Given the description of an element on the screen output the (x, y) to click on. 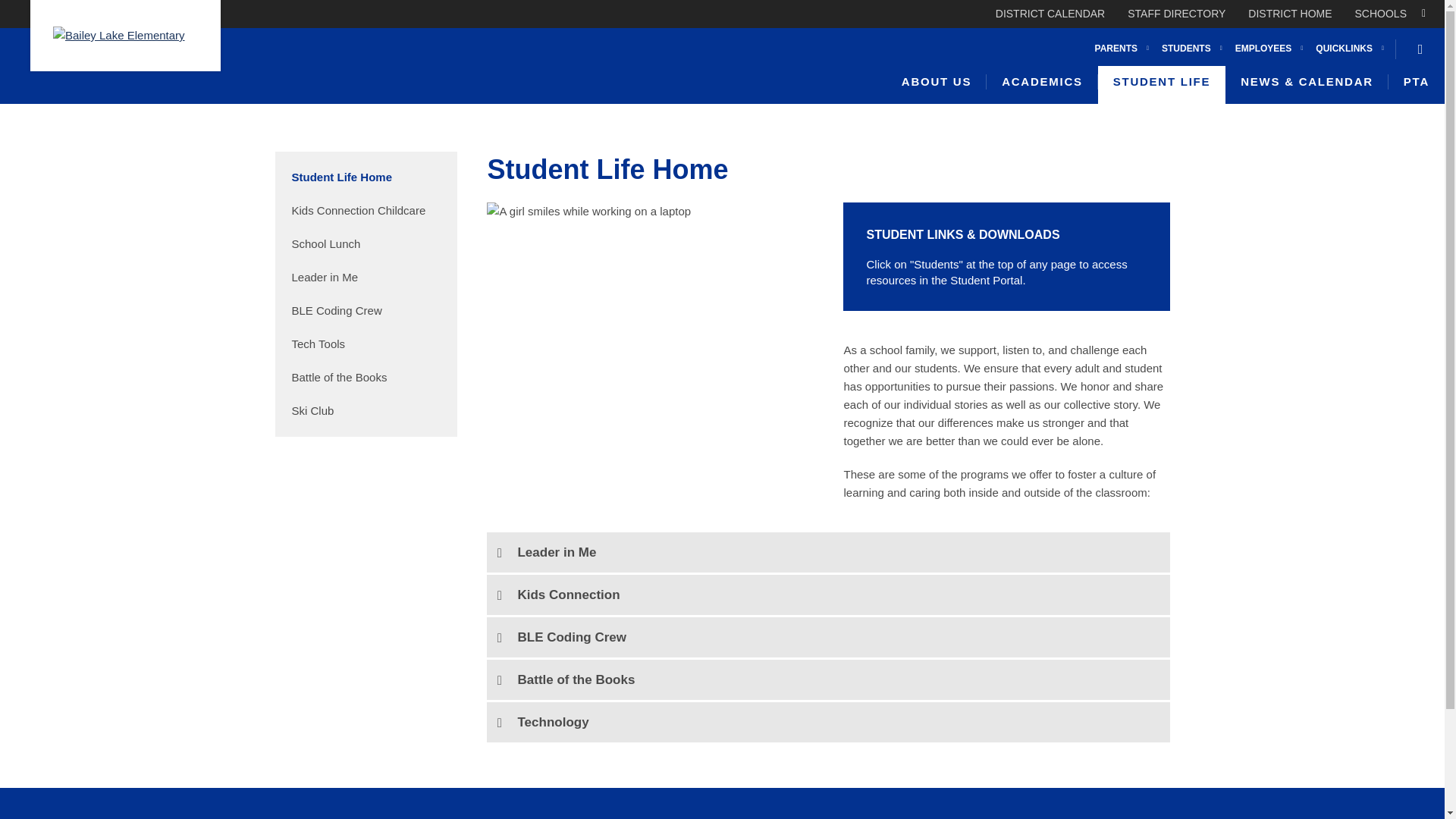
A girl smiles while working on a laptop (588, 211)
